Given the description of an element on the screen output the (x, y) to click on. 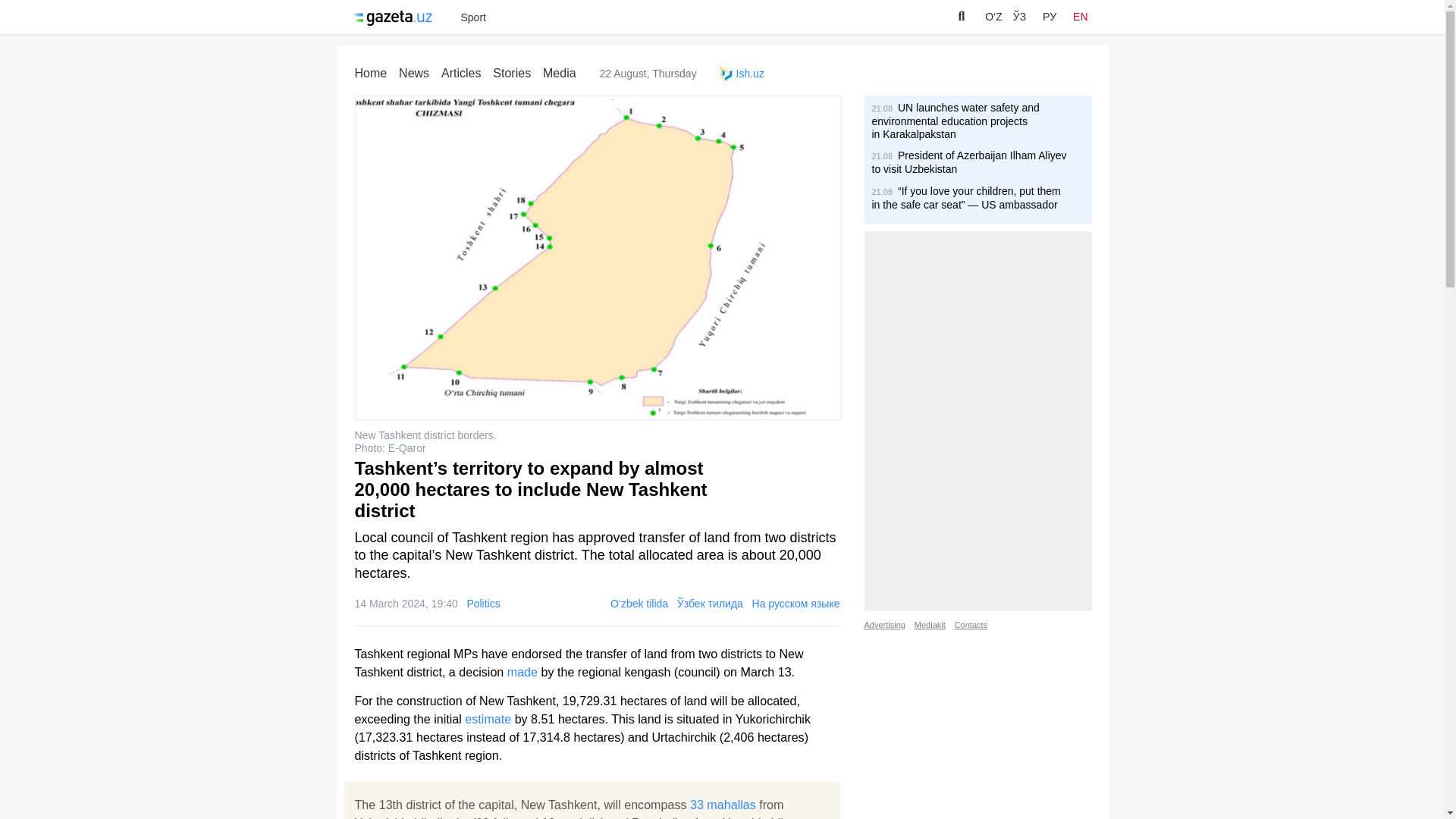
Contacts (971, 624)
Gazeta.uz (395, 17)
Stories (512, 72)
estimate (487, 718)
Politics (482, 603)
Ish.uz (741, 73)
made (521, 671)
33 mahallas (722, 804)
News (413, 72)
